Given the description of an element on the screen output the (x, y) to click on. 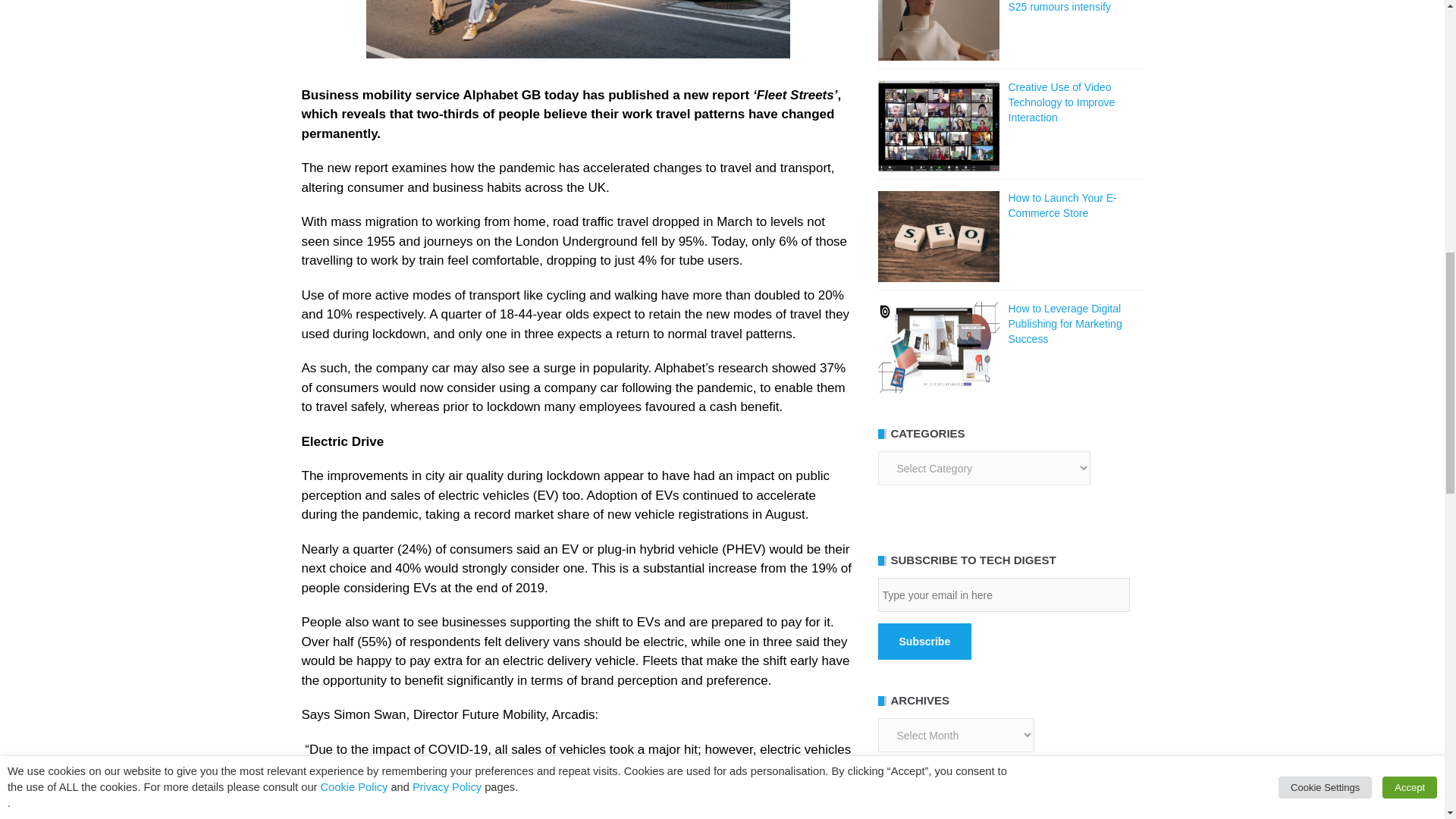
Type your email in here (1003, 594)
Type your email in here (1003, 594)
